Given the description of an element on the screen output the (x, y) to click on. 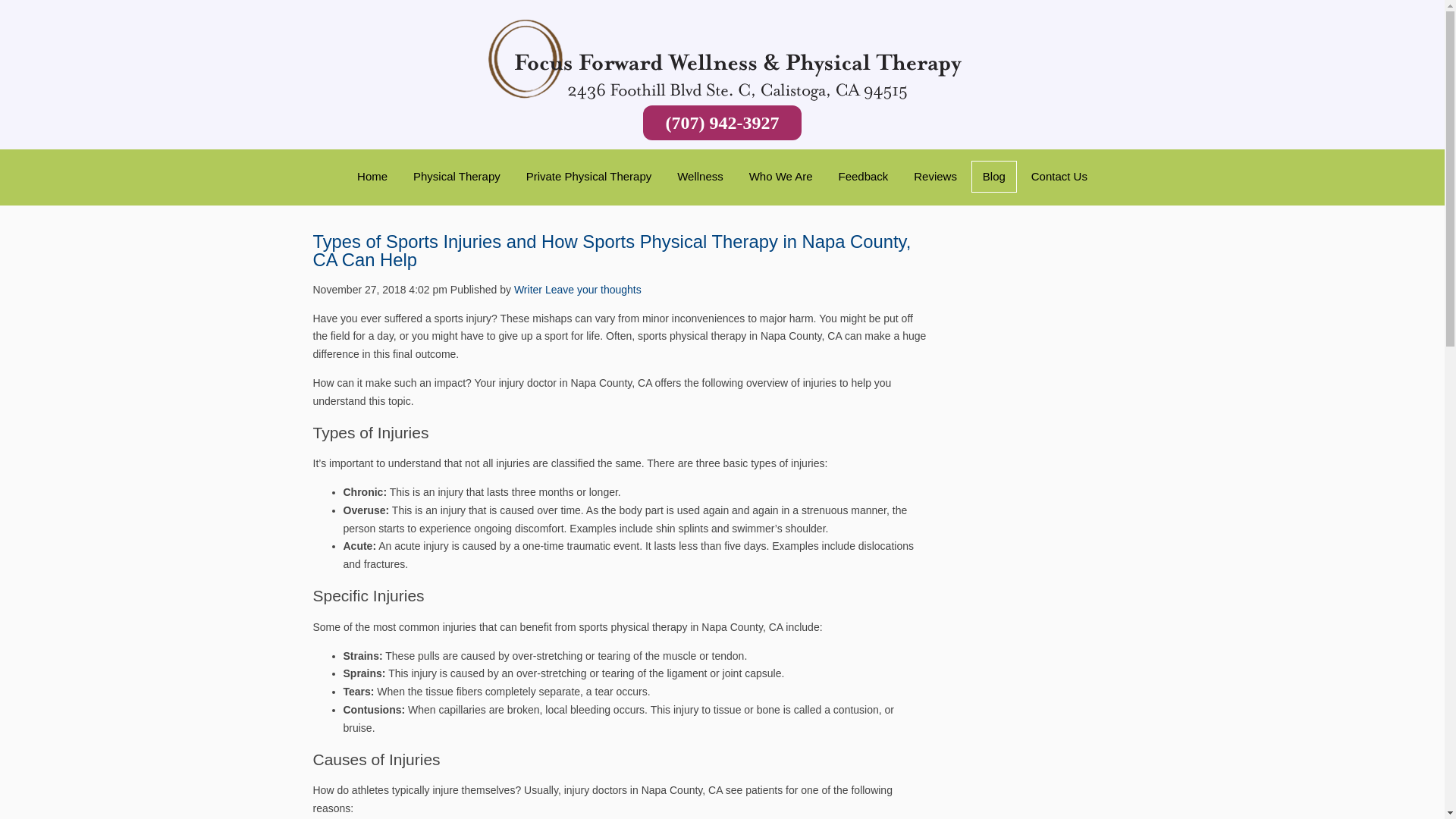
Home (372, 176)
Reviews (935, 176)
Leave your thoughts (593, 289)
Blog (993, 176)
Wellness (700, 176)
Who We Are (781, 176)
Private Physical Therapy (589, 176)
Physical Therapy (456, 176)
